Given the description of an element on the screen output the (x, y) to click on. 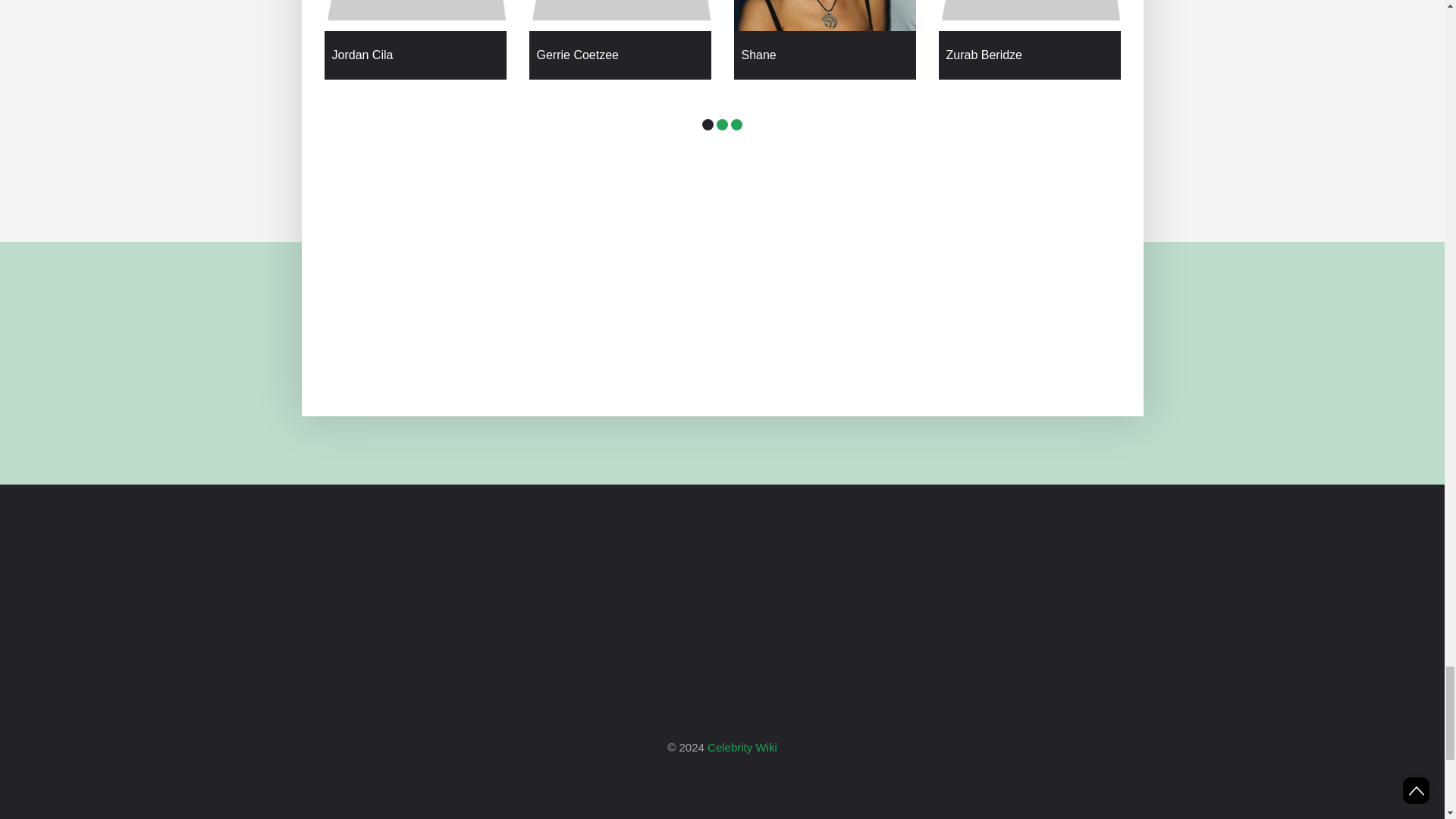
Jordan Cila (415, 54)
